Given the description of an element on the screen output the (x, y) to click on. 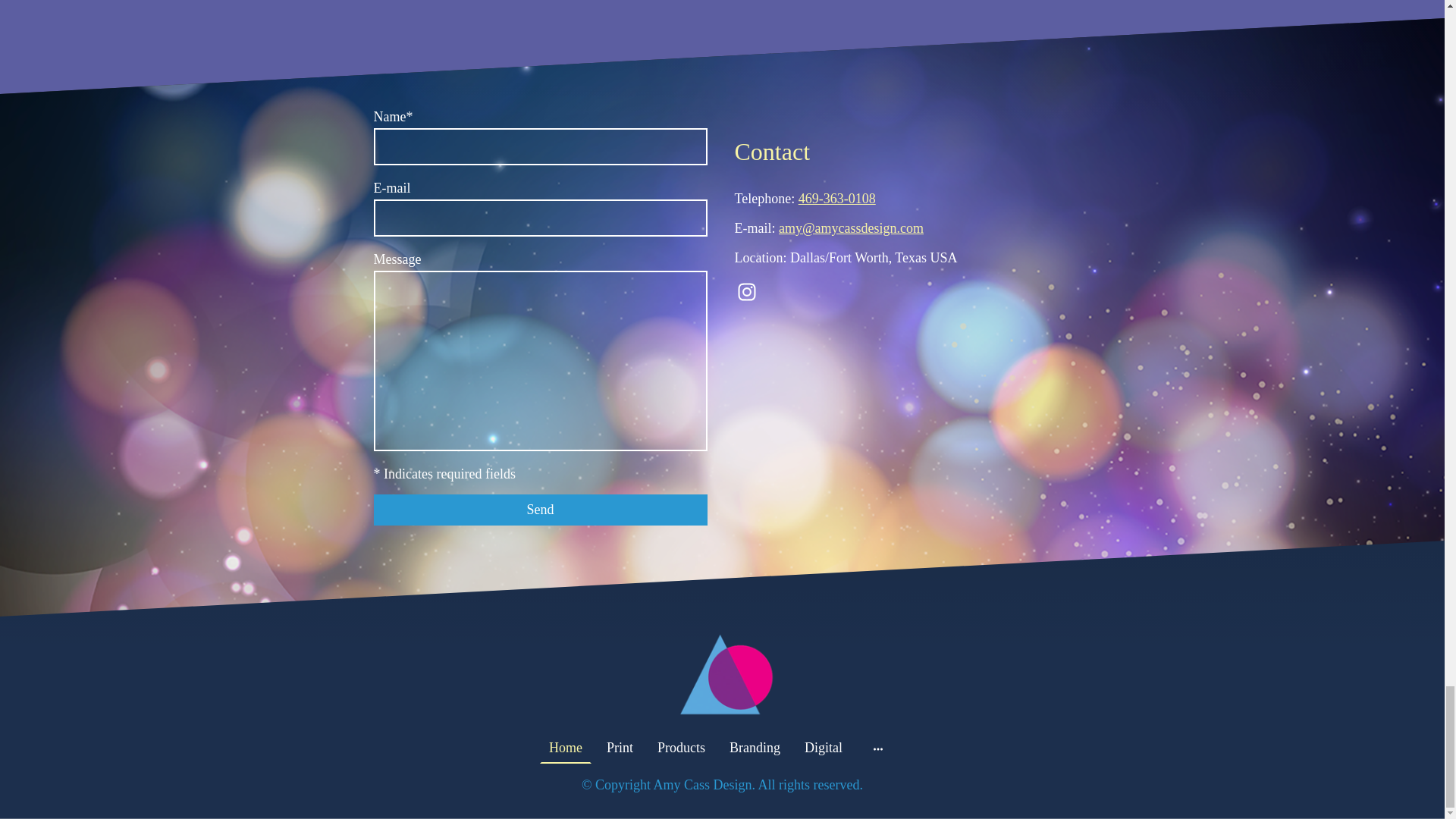
Products (681, 747)
Home (565, 747)
Branding (754, 747)
Digital (823, 747)
Send (539, 509)
469-363-0108 (836, 198)
Print (619, 747)
